Given the description of an element on the screen output the (x, y) to click on. 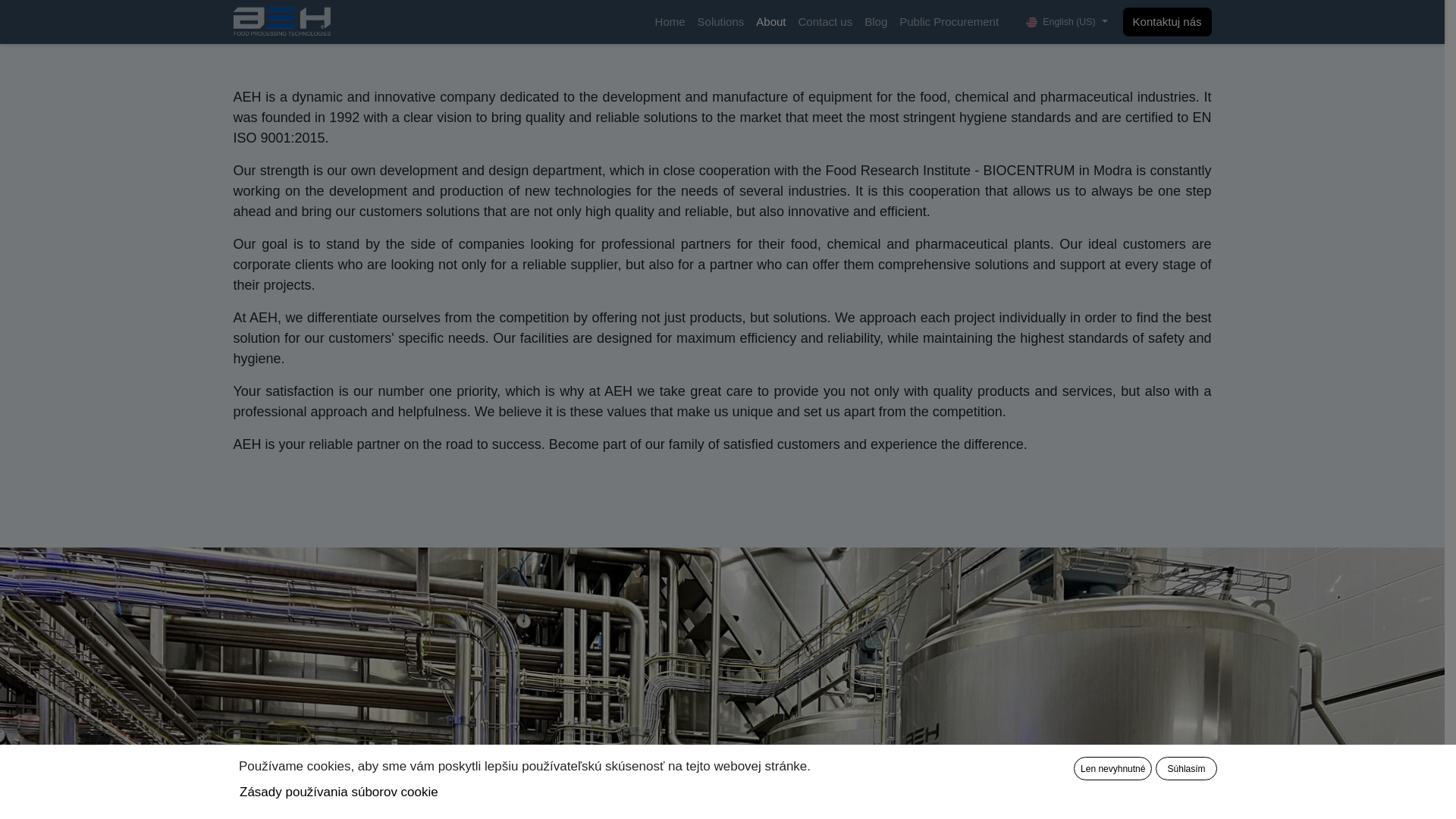
aeh.sk (281, 21)
Contact us (825, 21)
Blog (876, 21)
About (770, 21)
Home (670, 21)
Public Procurement (948, 21)
Solutions (721, 21)
